Given the description of an element on the screen output the (x, y) to click on. 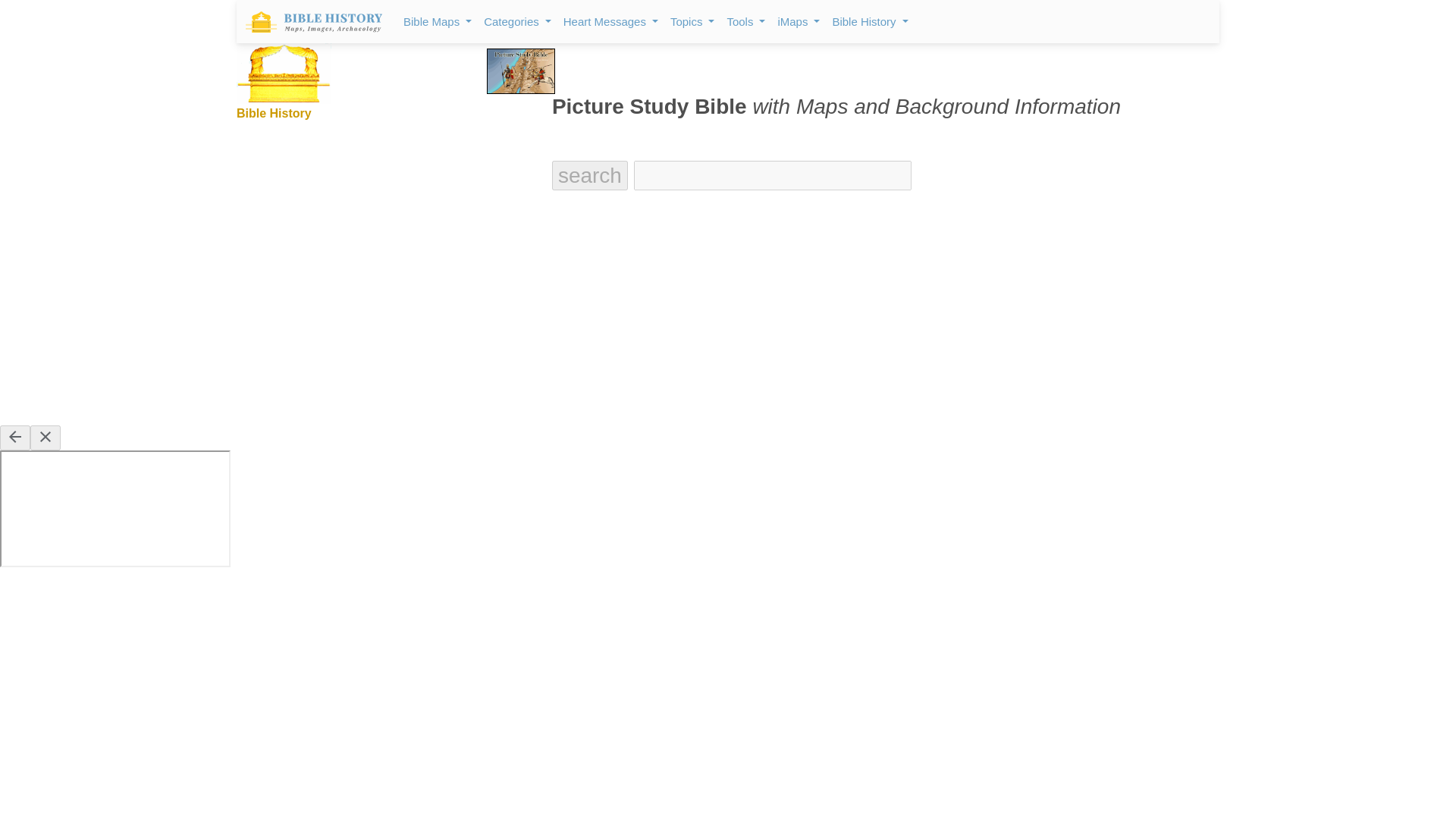
search (589, 175)
Bible Maps (437, 21)
